Given the description of an element on the screen output the (x, y) to click on. 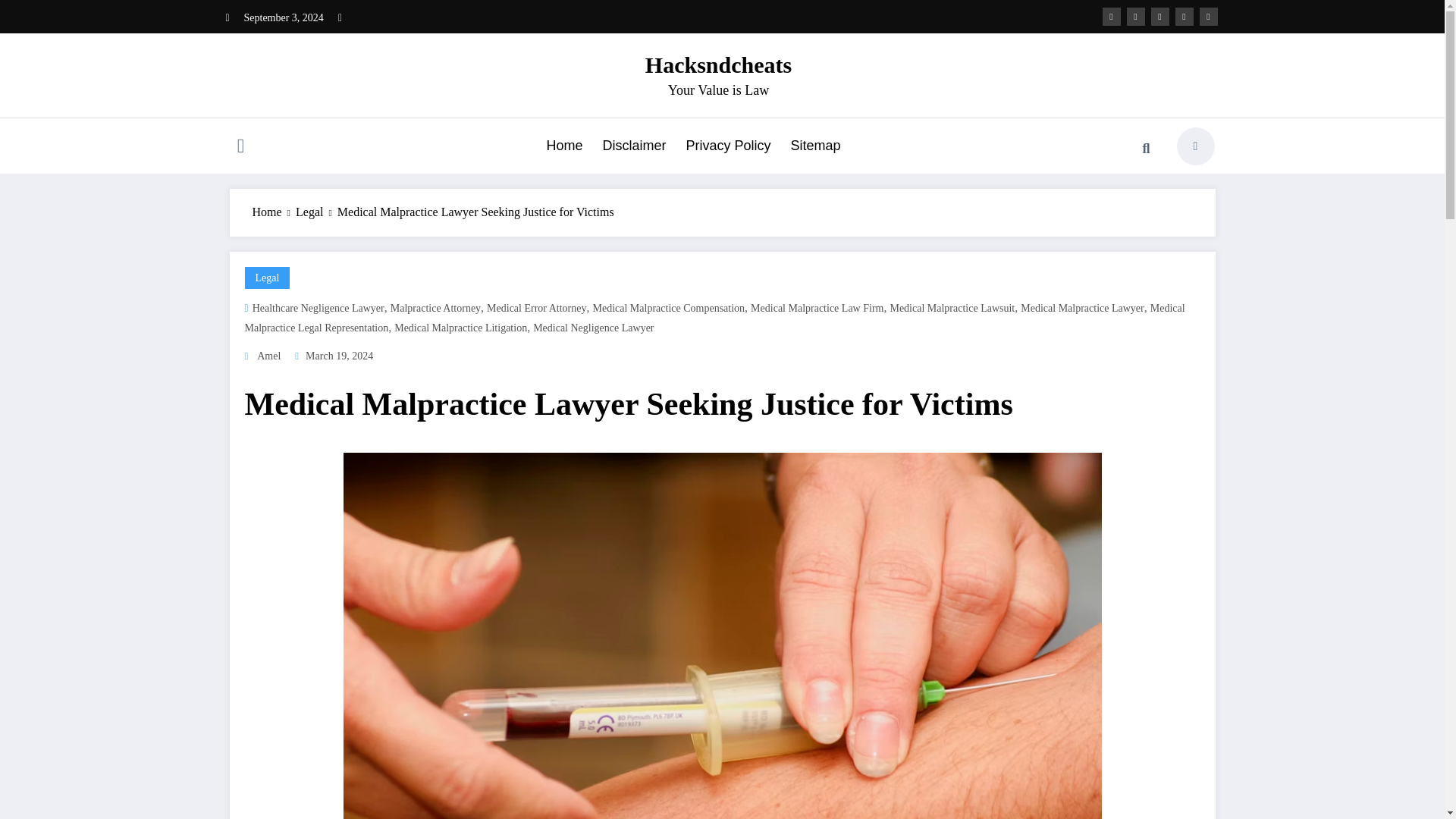
Toggle Icon (239, 147)
Medical Malpractice Compensation (668, 307)
Healthcare Negligence Lawyer (317, 307)
Privacy Policy (727, 145)
Medical Negligence Lawyer (592, 327)
instagram (1183, 16)
Disclaimer (633, 145)
Medical Malpractice Litigation (460, 327)
Search (1145, 148)
youtube (1208, 16)
